Given the description of an element on the screen output the (x, y) to click on. 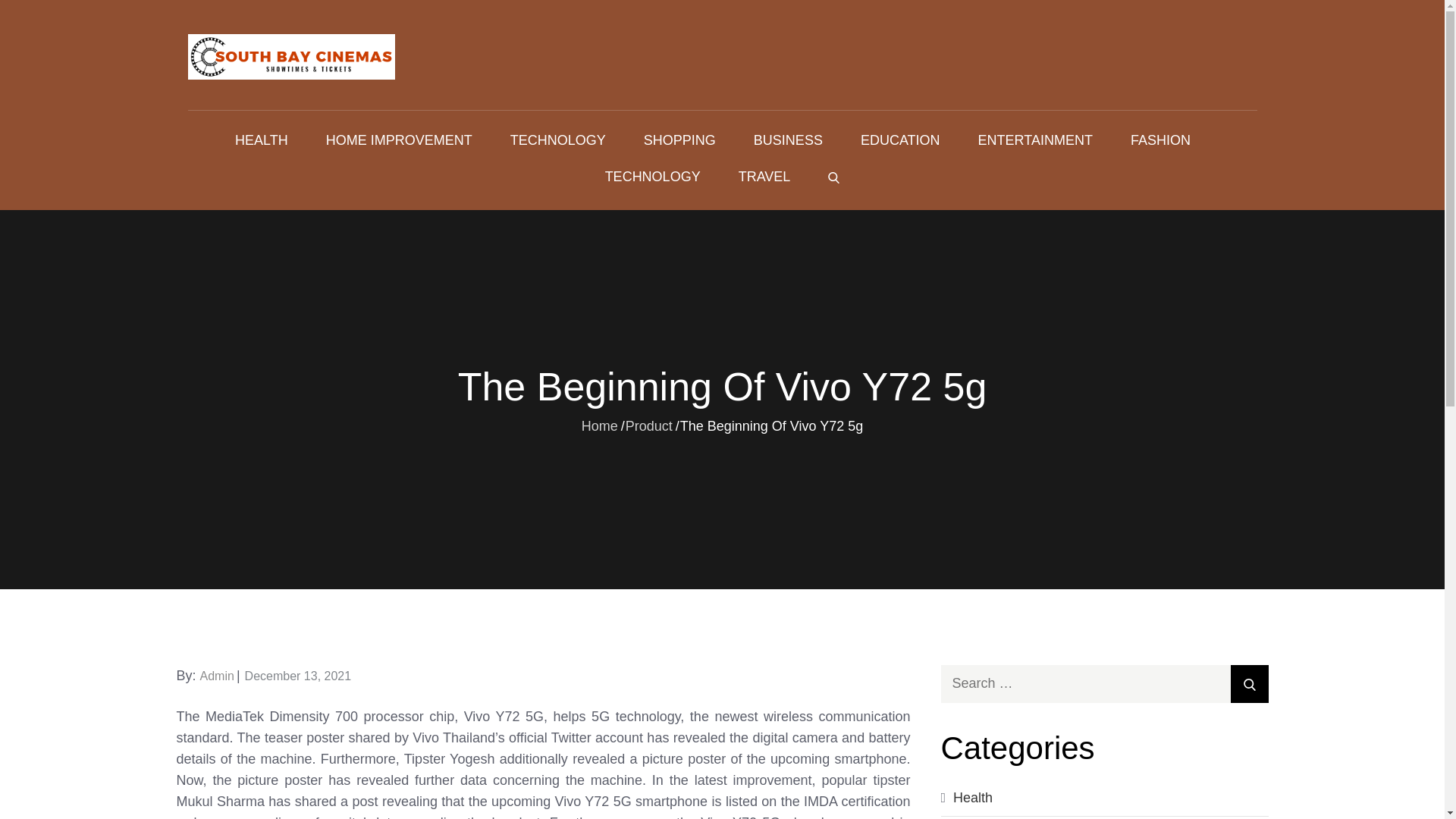
Admin (217, 675)
ENTERTAINMENT (1035, 140)
TRAVEL (763, 176)
EDUCATION (900, 140)
TECHNOLOGY (651, 176)
HOME IMPROVEMENT (399, 140)
December 13, 2021 (298, 675)
HEALTH (261, 140)
SHOPPING (679, 140)
Home (598, 425)
